Given the description of an element on the screen output the (x, y) to click on. 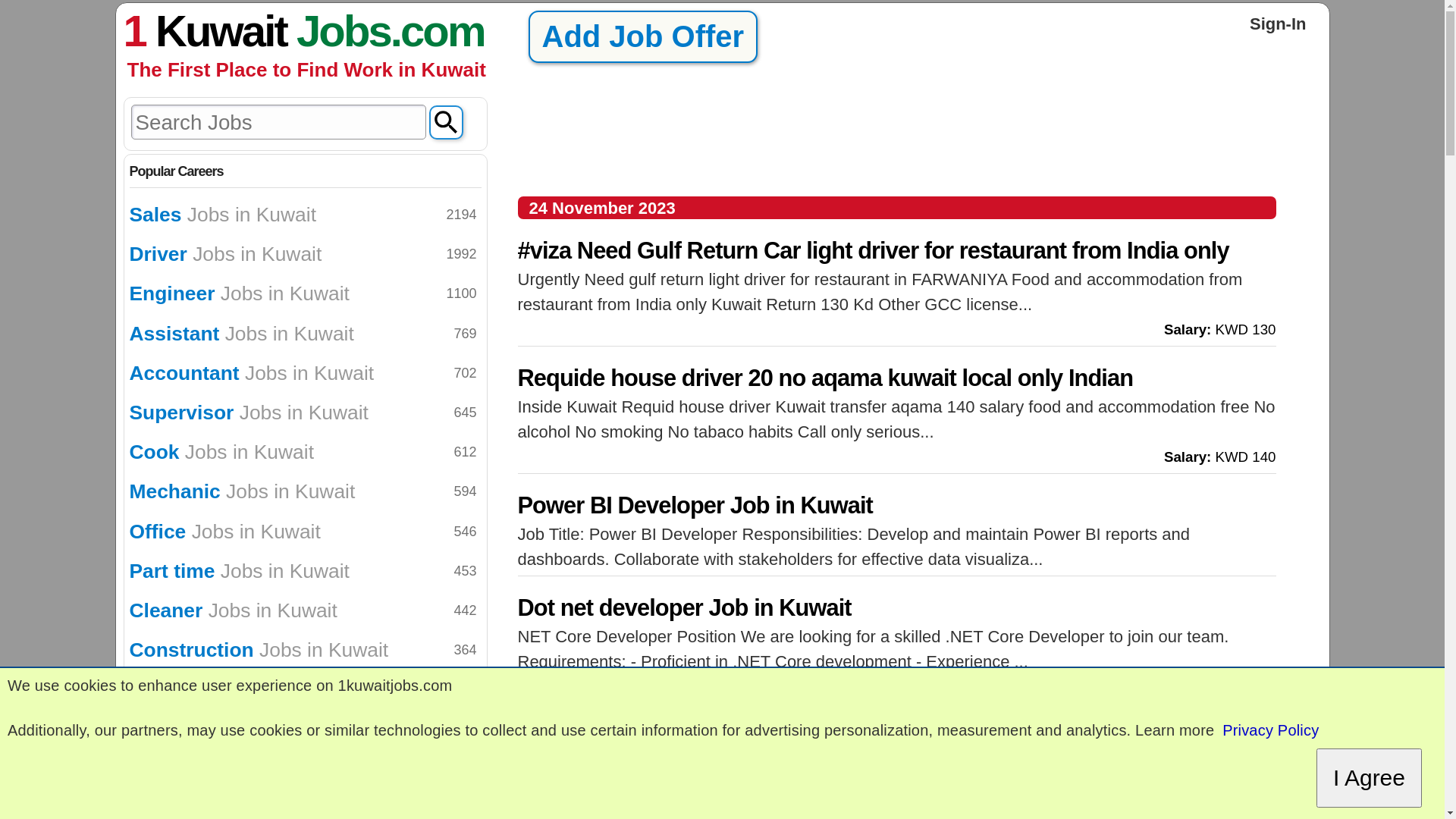
Add Job Offer Element type: text (642, 36)
Assistant Jobs in Kuwait
769 Element type: text (304, 332)
Write text to Search Jobs Element type: hover (278, 121)
Paint Jobs in Kuwait
182 Element type: text (304, 768)
Accountant Jobs in Kuwait
702 Element type: text (304, 373)
Sales Jobs in Kuwait
2194 Element type: text (304, 214)
Supervisor Jobs in Kuwait
645 Element type: text (304, 412)
Dot net developer Job in Kuwait Element type: text (896, 607)
Advertisement Element type: hover (896, 138)
Receptionist Jobs in Kuwait
310 Element type: text (304, 690)
Mechanic Jobs in Kuwait
594 Element type: text (304, 491)
Cleaner Jobs in Kuwait
442 Element type: text (304, 610)
Cook Jobs in Kuwait
612 Element type: text (304, 451)
Requide house driver 20 no aqama kuwait local only Indian Element type: text (896, 377)
Engineer Jobs in Kuwait
1100 Element type: text (304, 293)
I Agree Element type: text (1368, 777)
Electrician Jobs in Kuwait
260 Element type: text (304, 729)
Driver Jobs in Kuwait
1992 Element type: text (304, 254)
Office Jobs in Kuwait
546 Element type: text (304, 531)
Privacy Policy Element type: text (1270, 730)
Part time Jobs in Kuwait
453 Element type: text (304, 570)
Kuwait Jobs Element type: text (272, 30)
Construction Jobs in Kuwait
364 Element type: text (304, 649)
Power BI Developer Job in Kuwait Element type: text (896, 505)
